Given the description of an element on the screen output the (x, y) to click on. 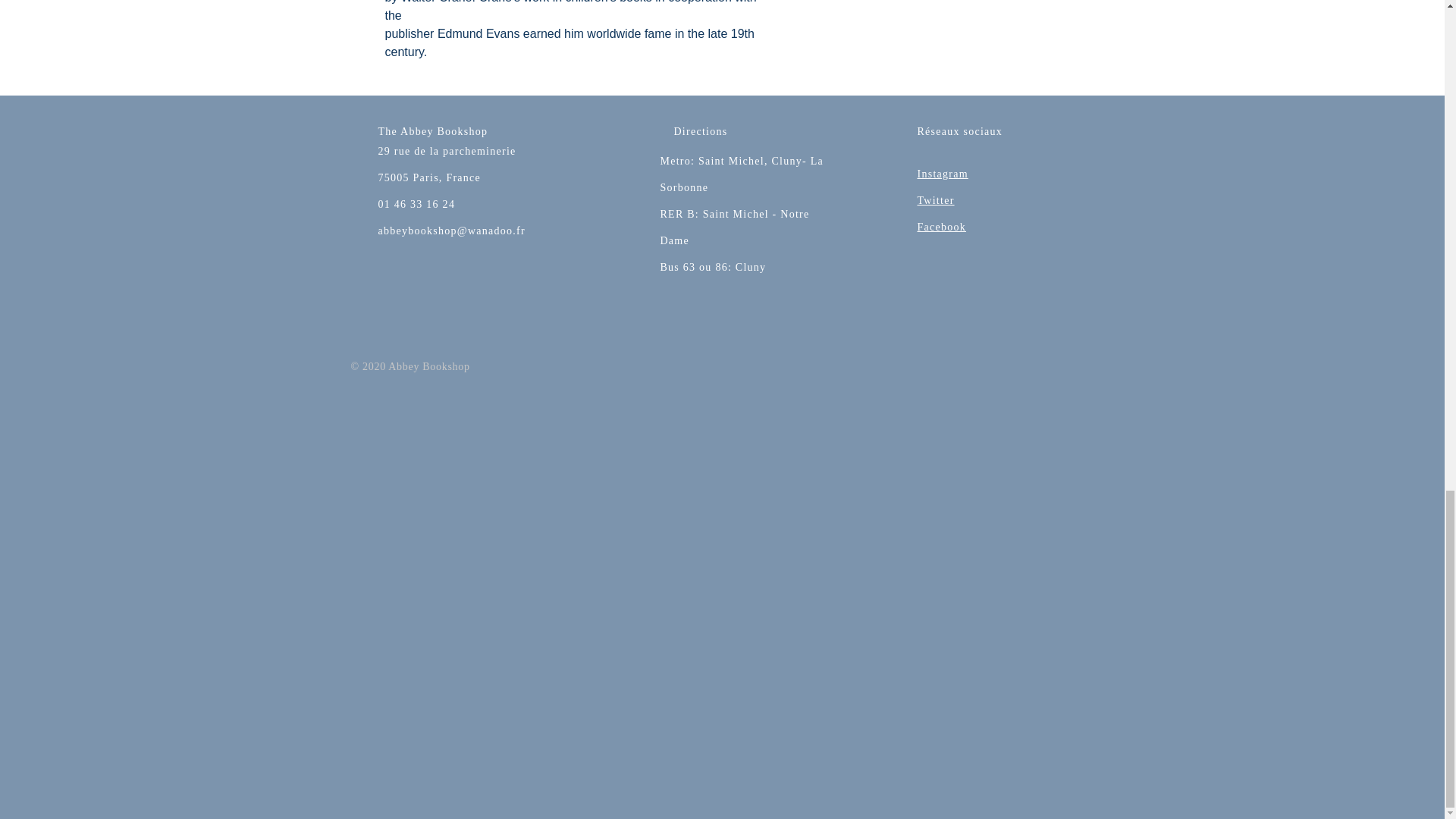
RER B: Saint Michel - Notre Dame  (734, 227)
Facebook (941, 226)
Bus 63 ou 86: Cluny (712, 266)
Instagram (942, 173)
Twitter (936, 200)
Metro: Saint Michel, Cluny- La Sorbonne (741, 174)
